Given the description of an element on the screen output the (x, y) to click on. 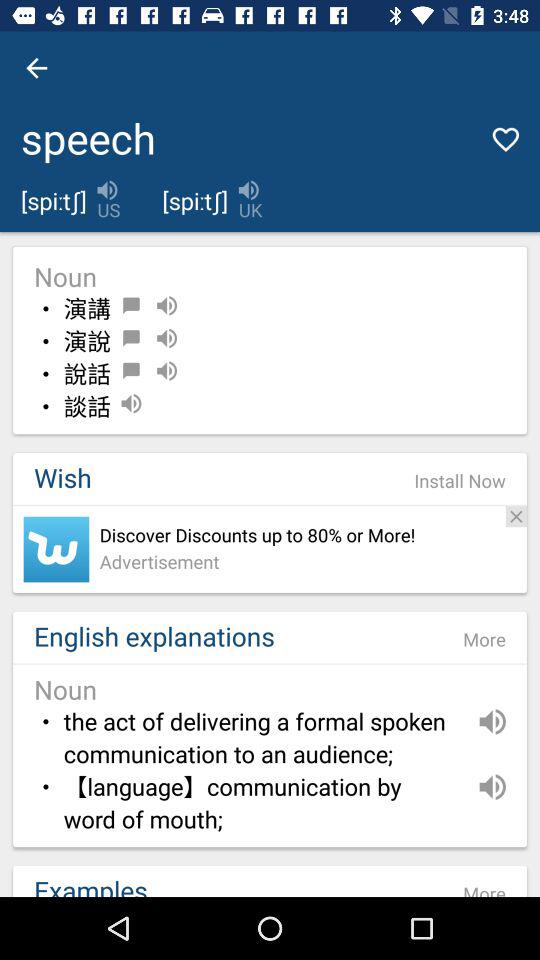
turn off the install now item (459, 481)
